Given the description of an element on the screen output the (x, y) to click on. 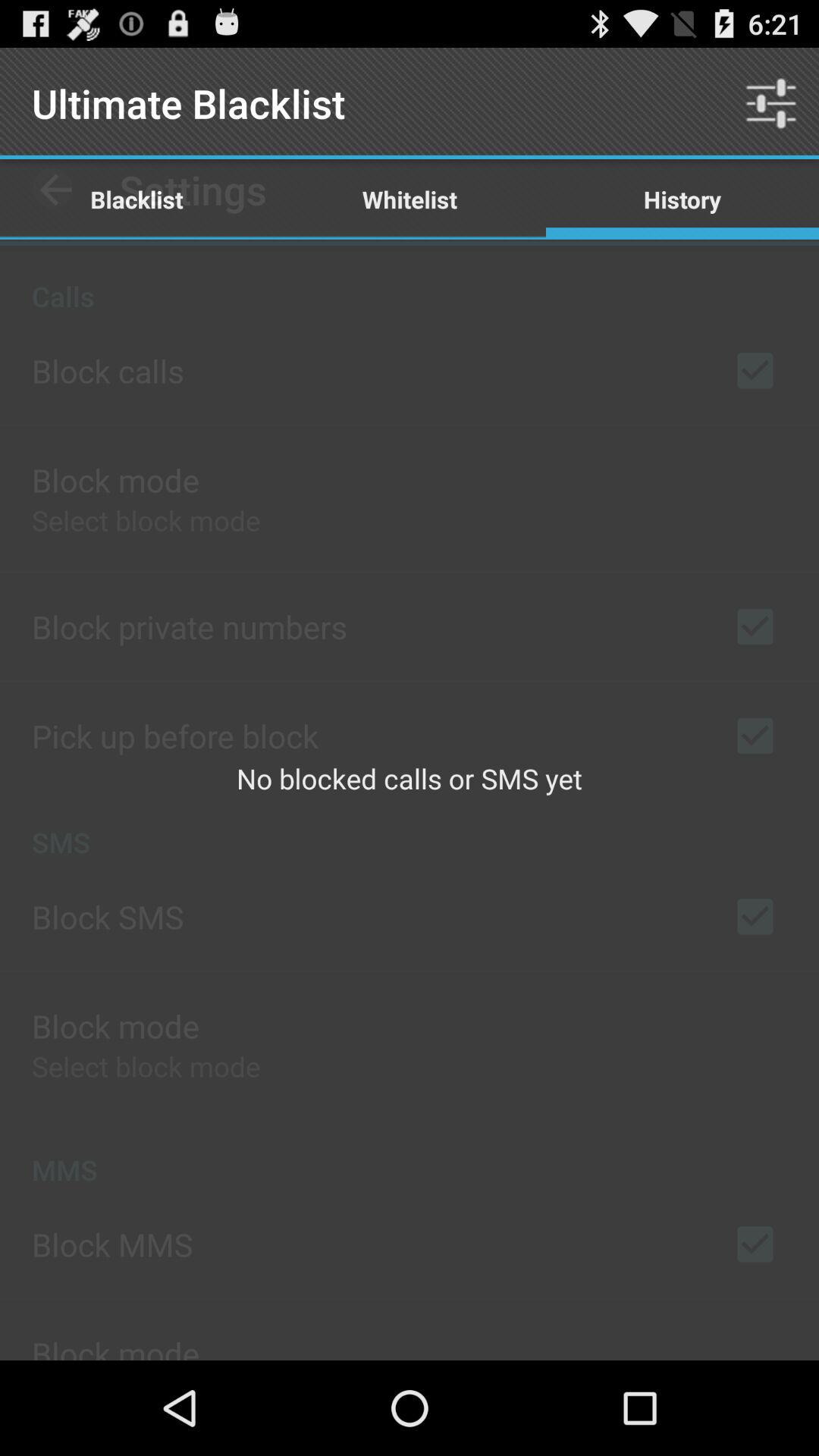
turn on icon above the history icon (771, 103)
